Given the description of an element on the screen output the (x, y) to click on. 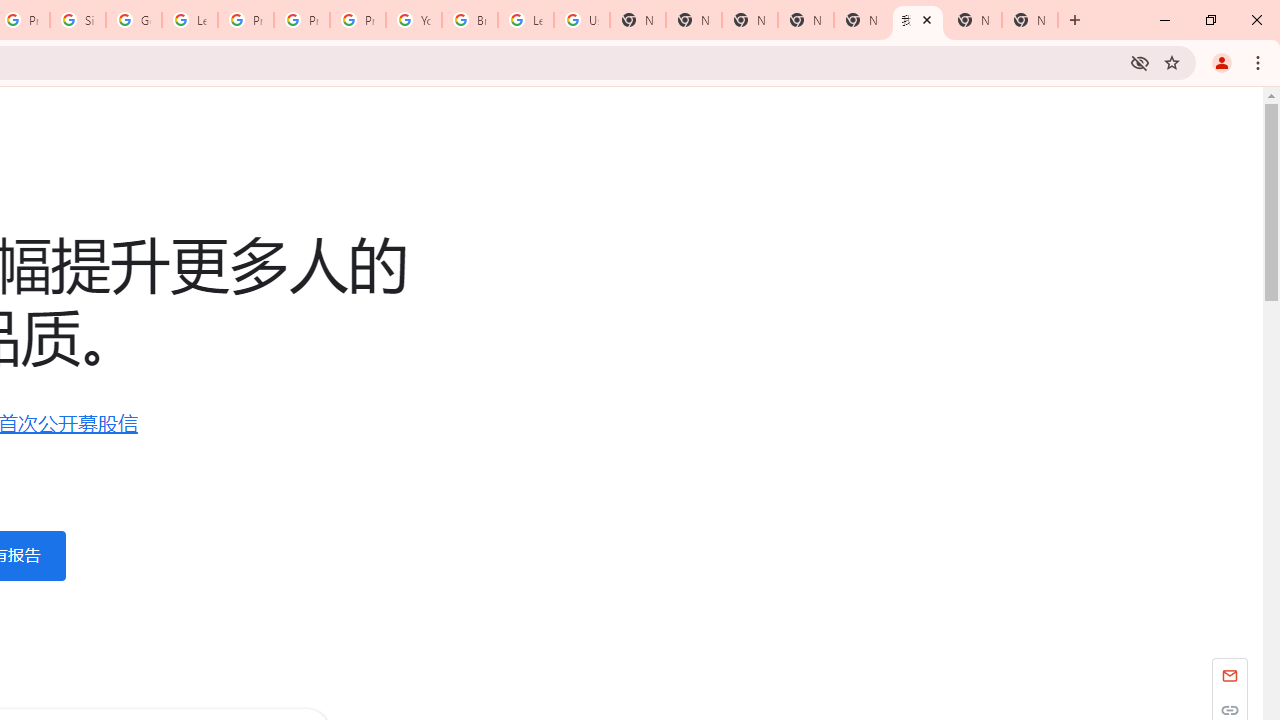
New Tab (1030, 20)
Third-party cookies blocked (1139, 62)
Browse Chrome as a guest - Computer - Google Chrome Help (469, 20)
YouTube (413, 20)
Privacy Help Center - Policies Help (245, 20)
Privacy Help Center - Policies Help (301, 20)
Sign in - Google Accounts (77, 20)
